Given the description of an element on the screen output the (x, y) to click on. 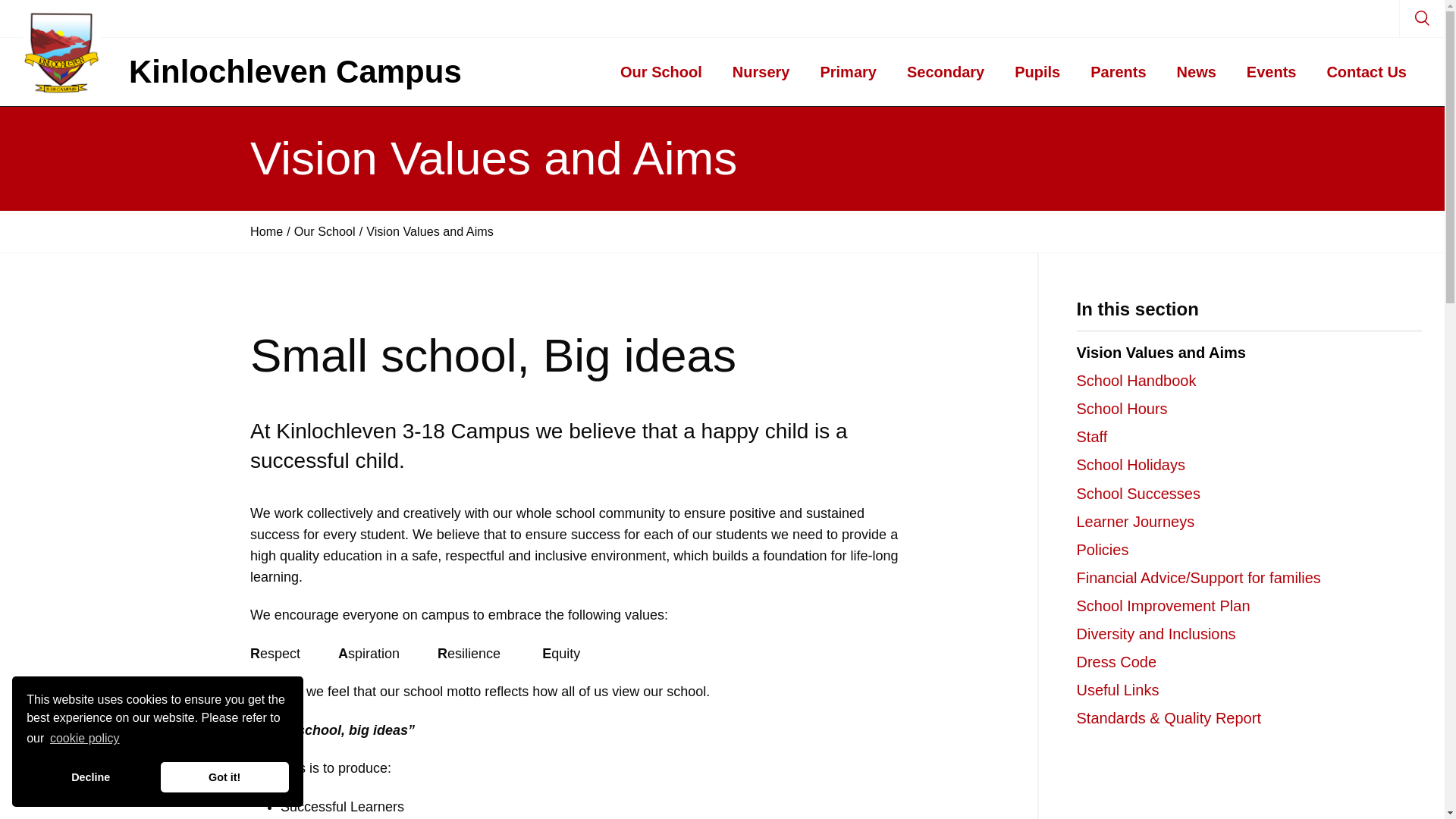
Decline (90, 777)
Secondary (945, 71)
Got it! (224, 777)
cookie policy (85, 738)
Our School (660, 71)
Kinlochleven Campus (295, 71)
